Given the description of an element on the screen output the (x, y) to click on. 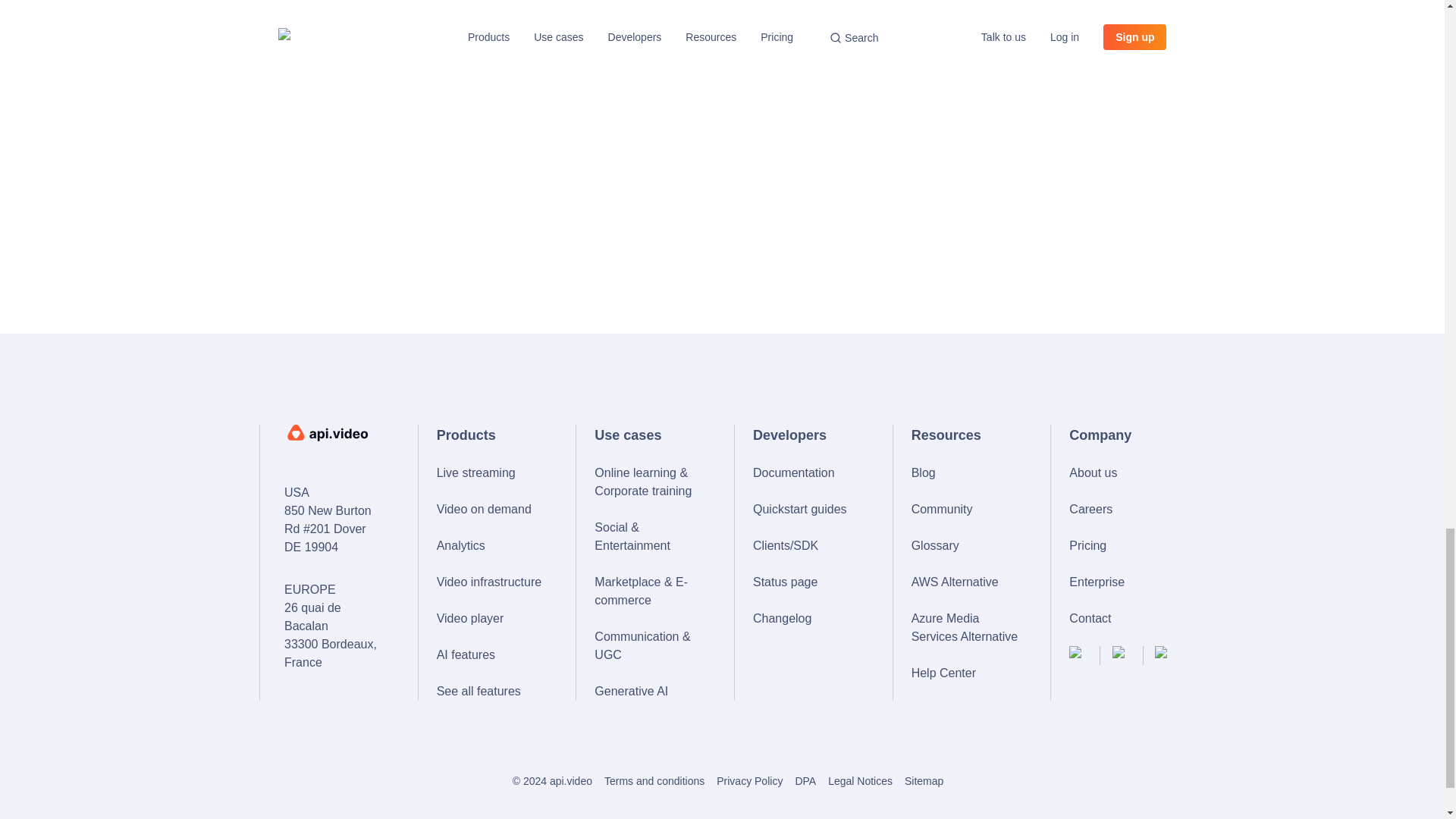
Live streaming (491, 473)
Video on demand (491, 509)
AI features (491, 655)
Video infrastructure (491, 582)
Analytics (491, 546)
Video player (491, 618)
